Given the description of an element on the screen output the (x, y) to click on. 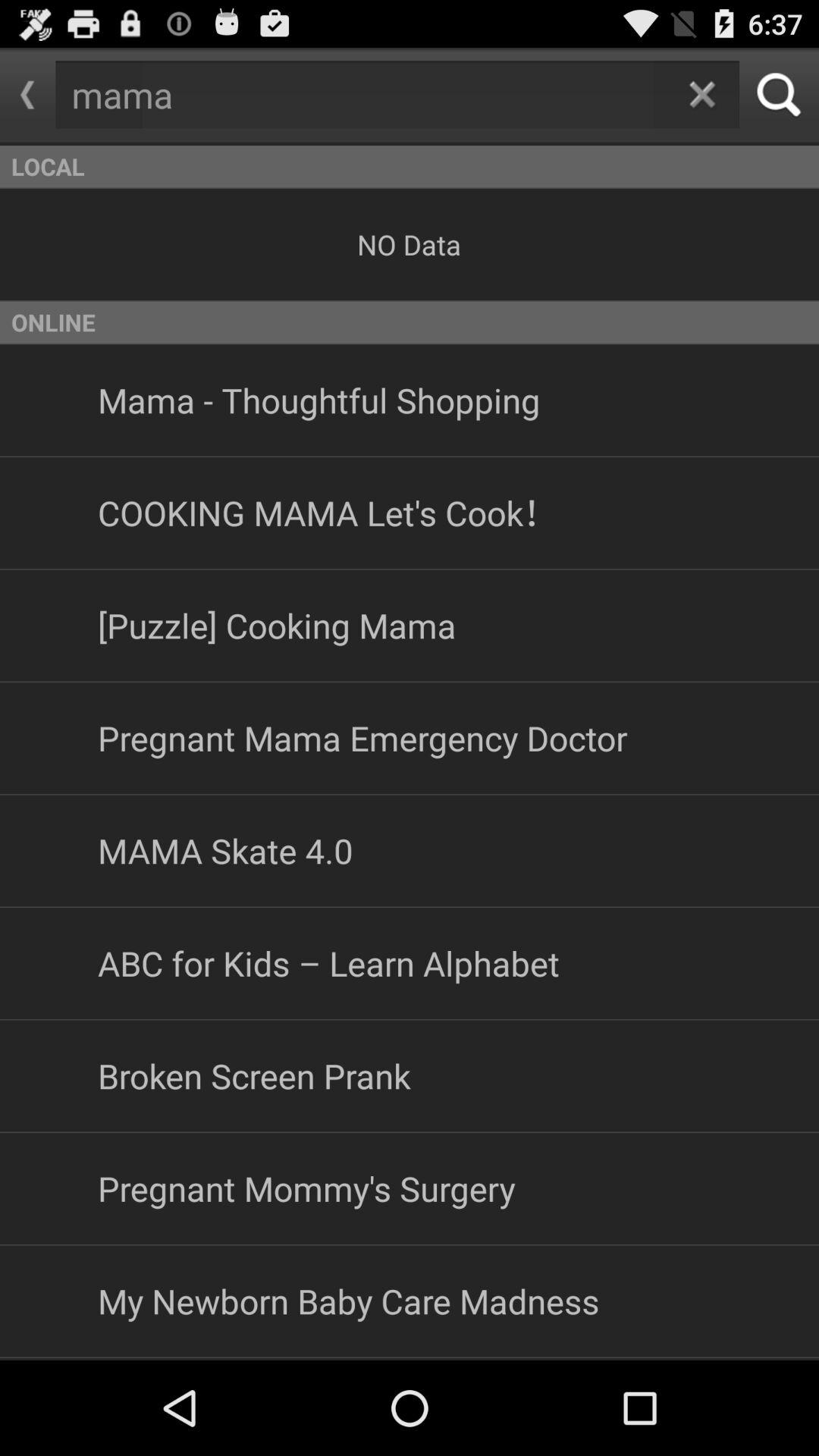
launch item to the left of mama (27, 94)
